Given the description of an element on the screen output the (x, y) to click on. 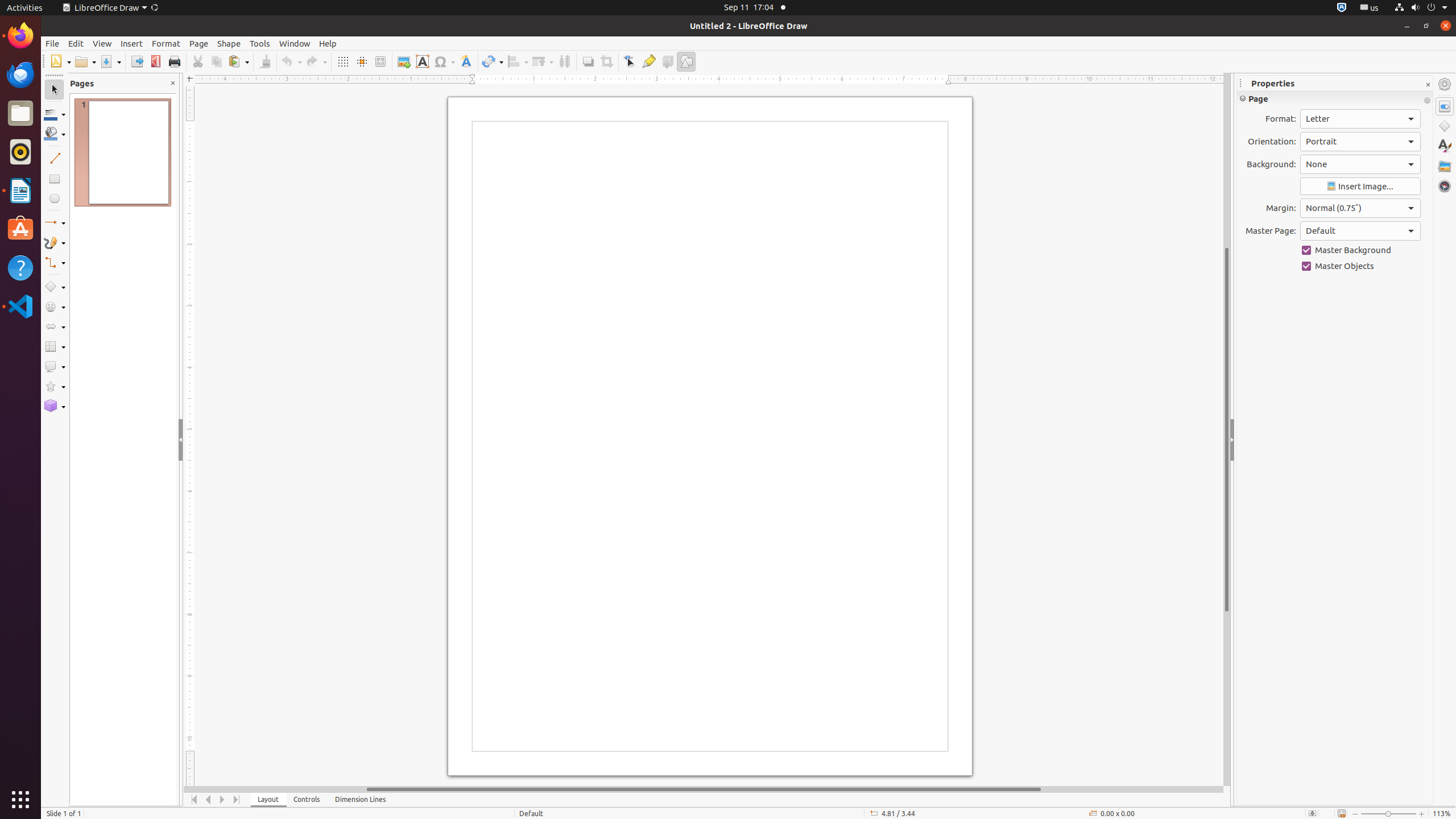
Distribution Element type: push-button (564, 61)
Zoom & Pan Element type: push-button (379, 61)
Arrow Shapes Element type: push-button (54, 326)
Background: Element type: combo-box (1360, 164)
Move Left Element type: push-button (208, 799)
